Given the description of an element on the screen output the (x, y) to click on. 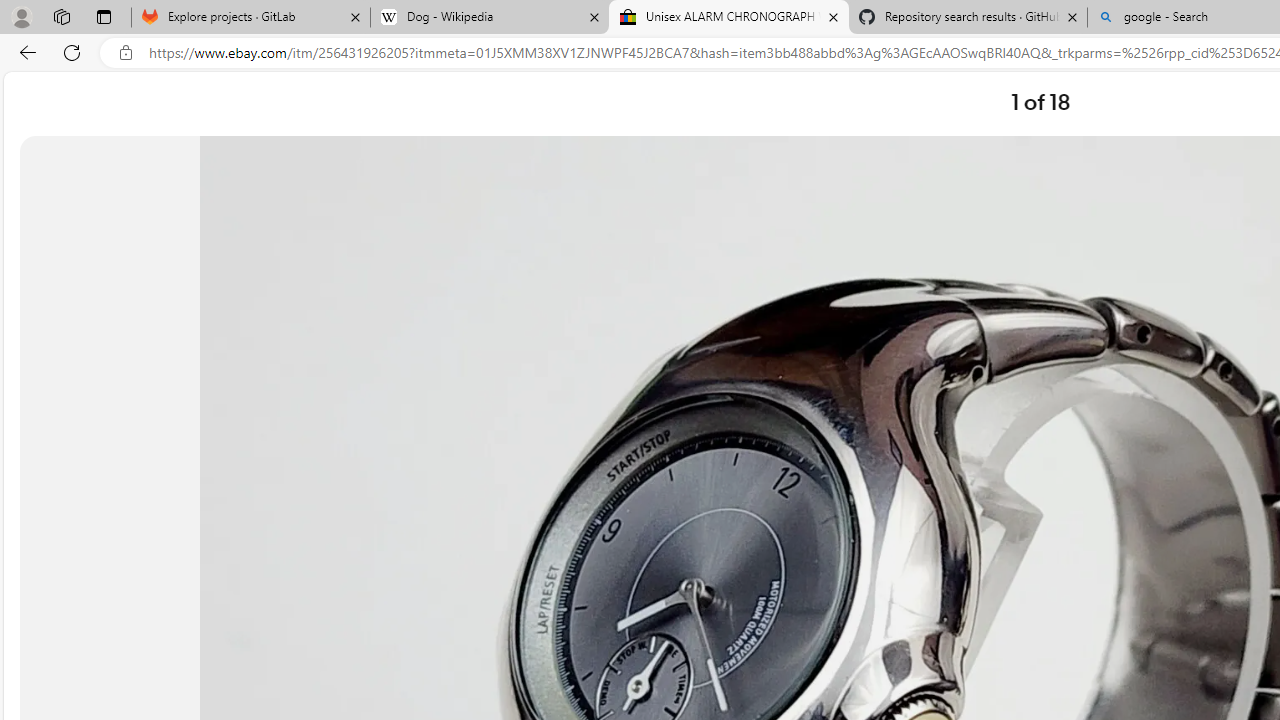
Dog - Wikipedia (490, 17)
